Given the description of an element on the screen output the (x, y) to click on. 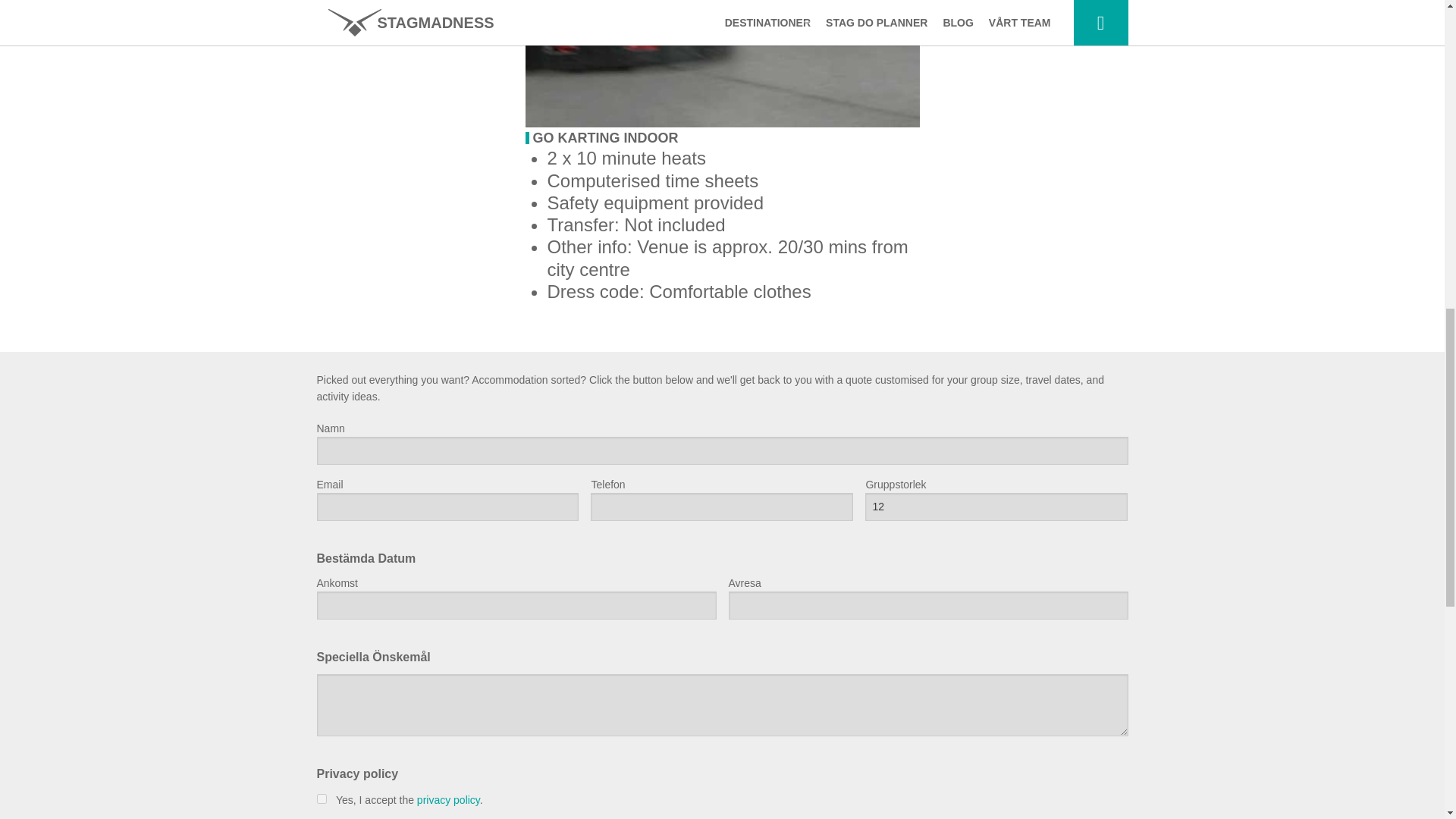
1 (321, 798)
12 (995, 506)
GO KARTING INDOOR (605, 137)
privacy policy (448, 799)
